Given the description of an element on the screen output the (x, y) to click on. 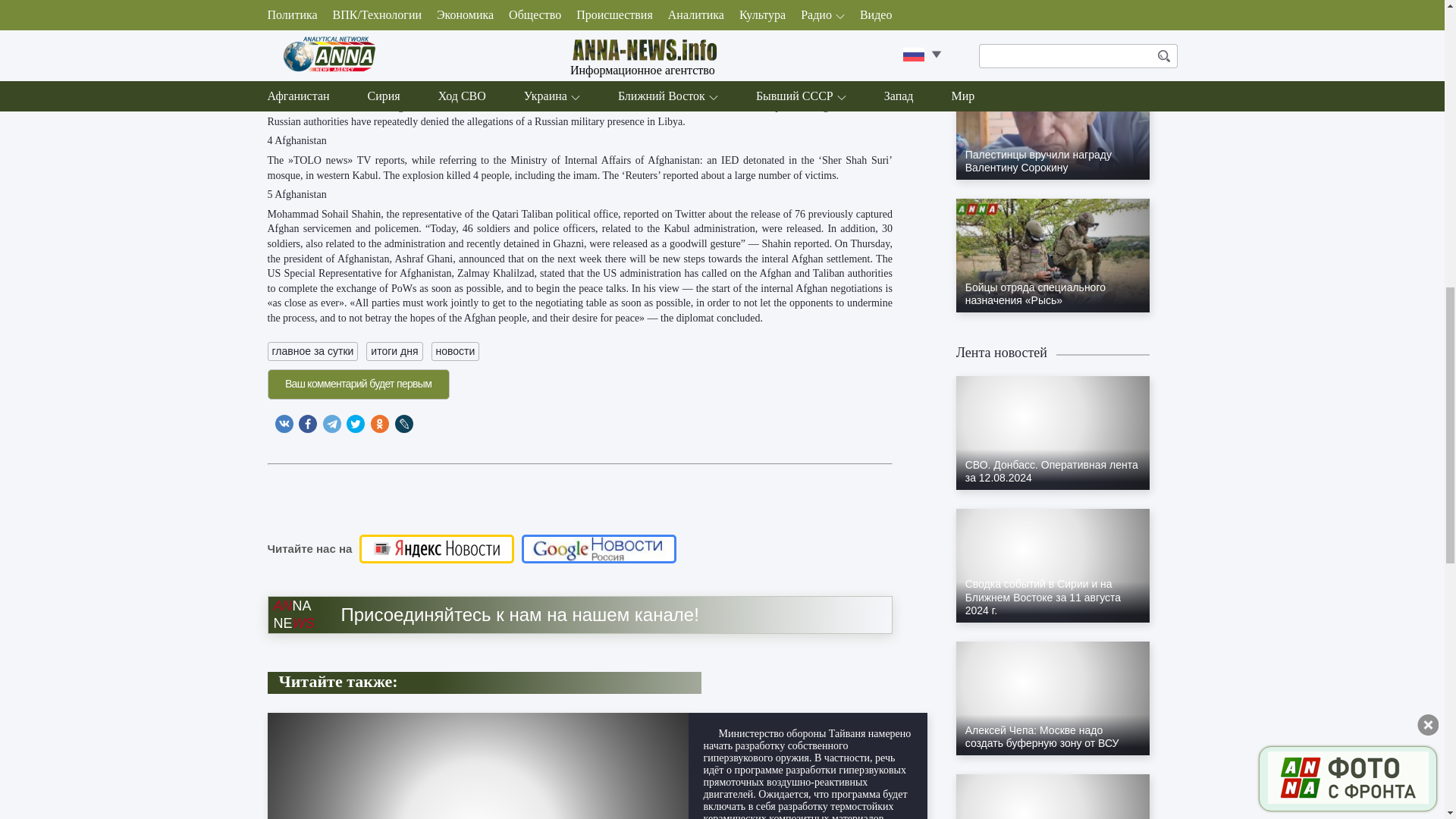
Telegram (331, 423)
Facebook (307, 423)
Twitter (355, 423)
LiveJournal (403, 423)
